Given the description of an element on the screen output the (x, y) to click on. 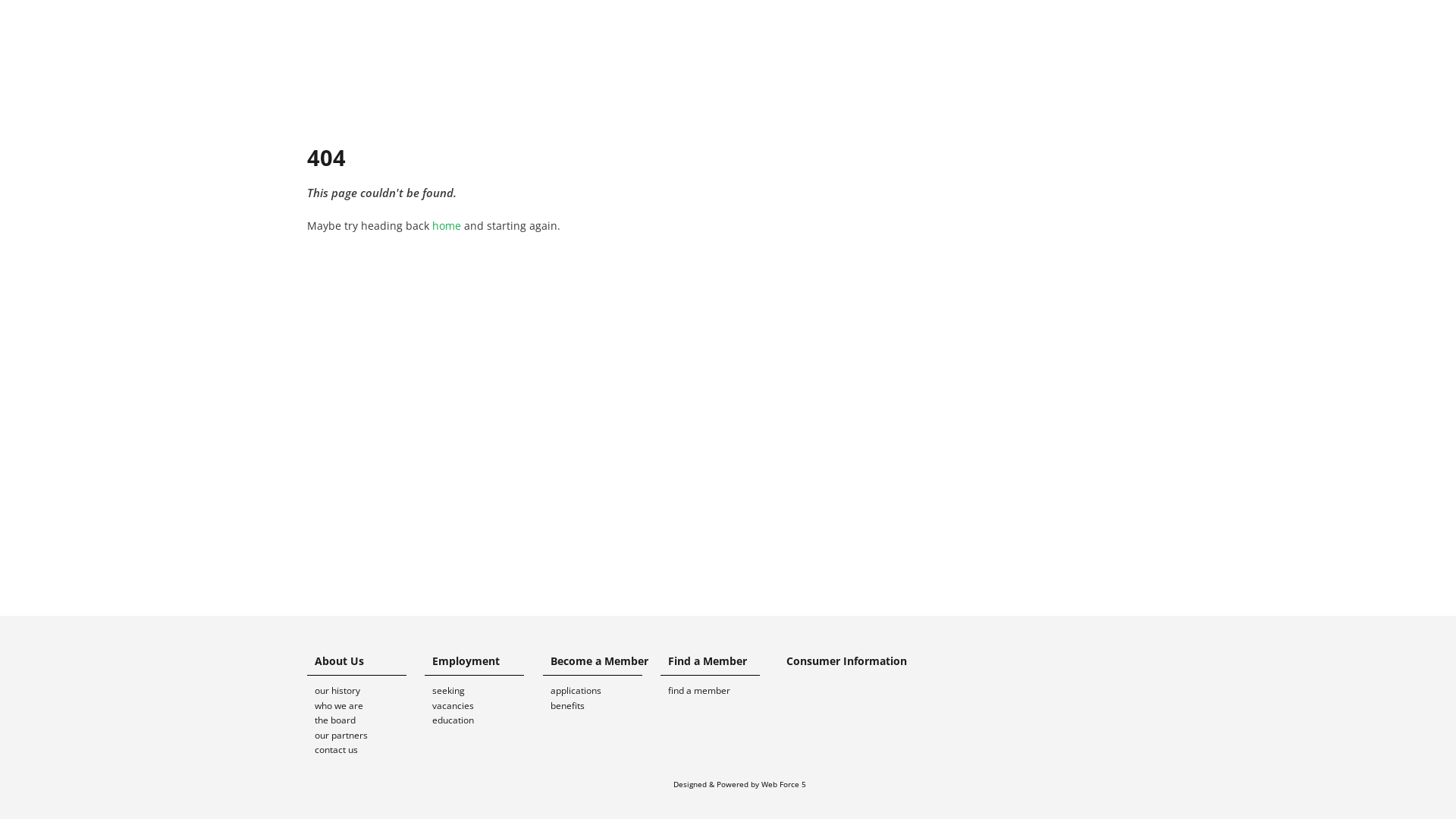
vacancies Element type: text (483, 705)
the board Element type: text (365, 720)
seeking Element type: text (483, 690)
About Us Element type: text (365, 664)
Consumer Information Element type: text (842, 660)
benefits Element type: text (601, 705)
Designed & Powered by Web Force 5 Element type: text (739, 784)
who we are Element type: text (365, 705)
education Element type: text (483, 720)
applications Element type: text (601, 690)
our history Element type: text (365, 690)
our partners Element type: text (365, 735)
home Element type: text (446, 225)
find a member Element type: text (719, 690)
contact us Element type: text (365, 749)
